Given the description of an element on the screen output the (x, y) to click on. 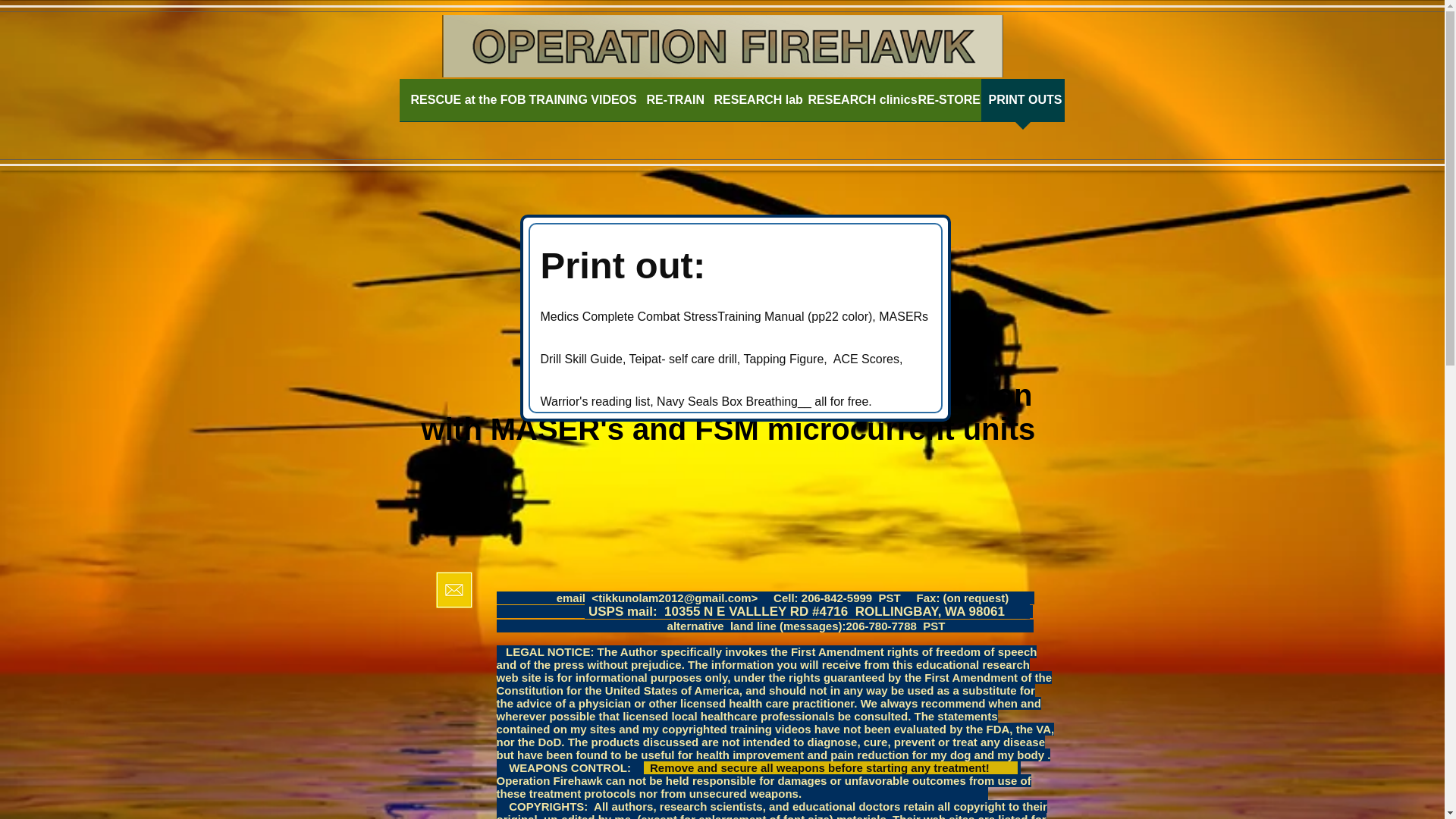
TRAINING VIDEOS (580, 104)
RE-STORE (944, 104)
RESCUE at the FOB (462, 104)
PRINT OUTS (1022, 104)
